Given the description of an element on the screen output the (x, y) to click on. 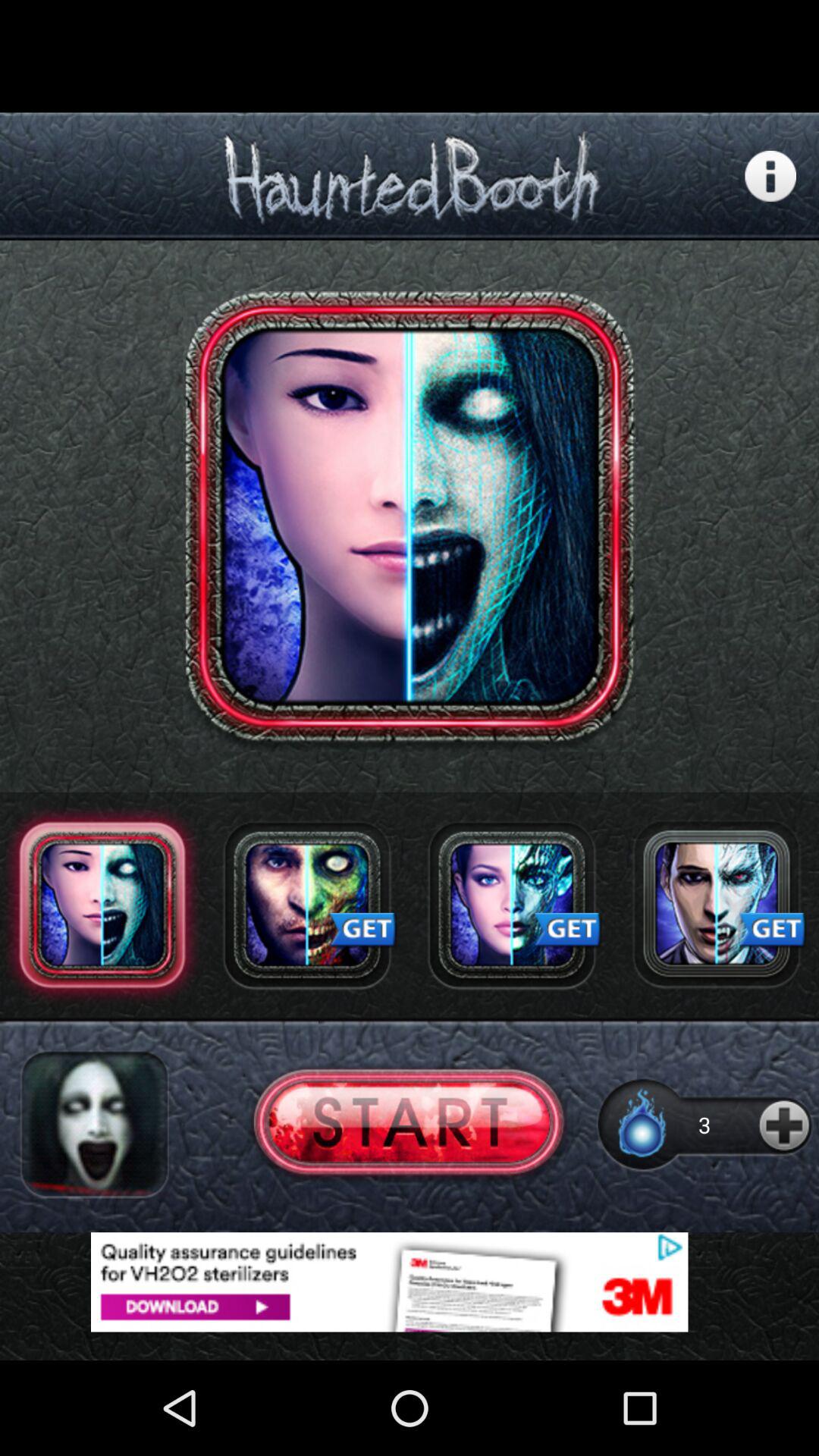
show information (770, 175)
